Given the description of an element on the screen output the (x, y) to click on. 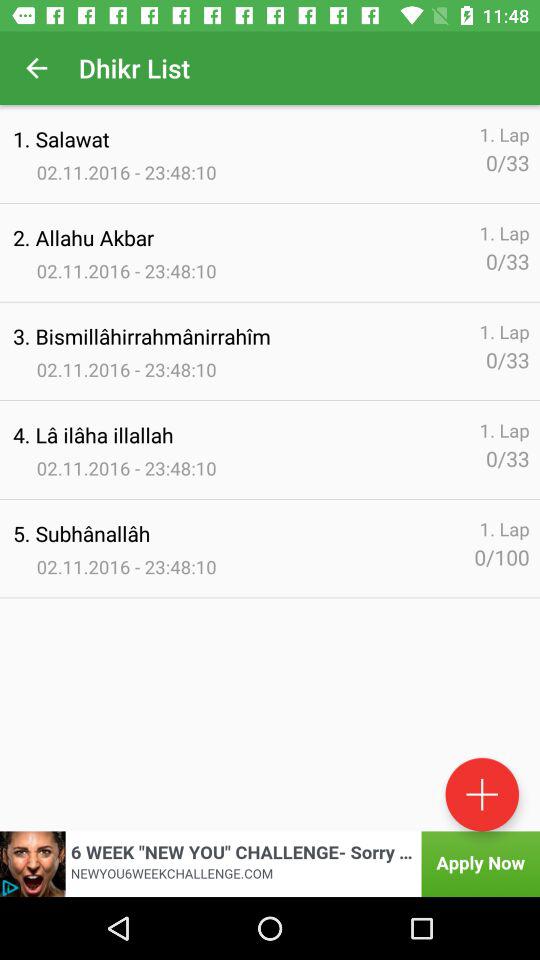
go to advertisement (270, 864)
